Given the description of an element on the screen output the (x, y) to click on. 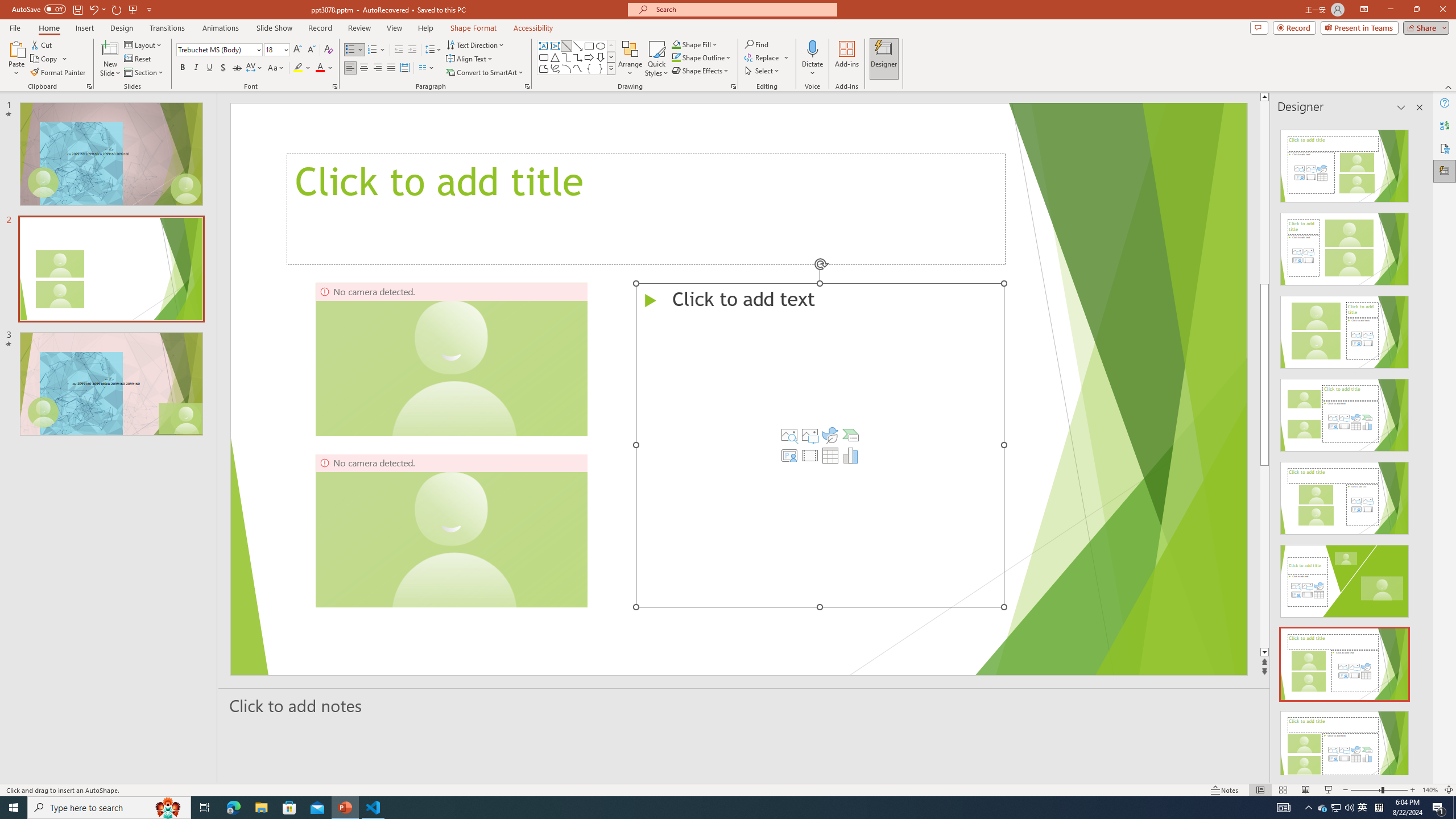
Line (566, 45)
Rectangle (589, 45)
Insert Cameo (788, 455)
Shape Fill Dark Green, Accent 2 (675, 44)
Justify (390, 67)
Page up (1264, 192)
Select (762, 69)
Quick Styles (656, 58)
Connector: Elbow (566, 57)
Class: NetUIScrollBar (1418, 447)
